Given the description of an element on the screen output the (x, y) to click on. 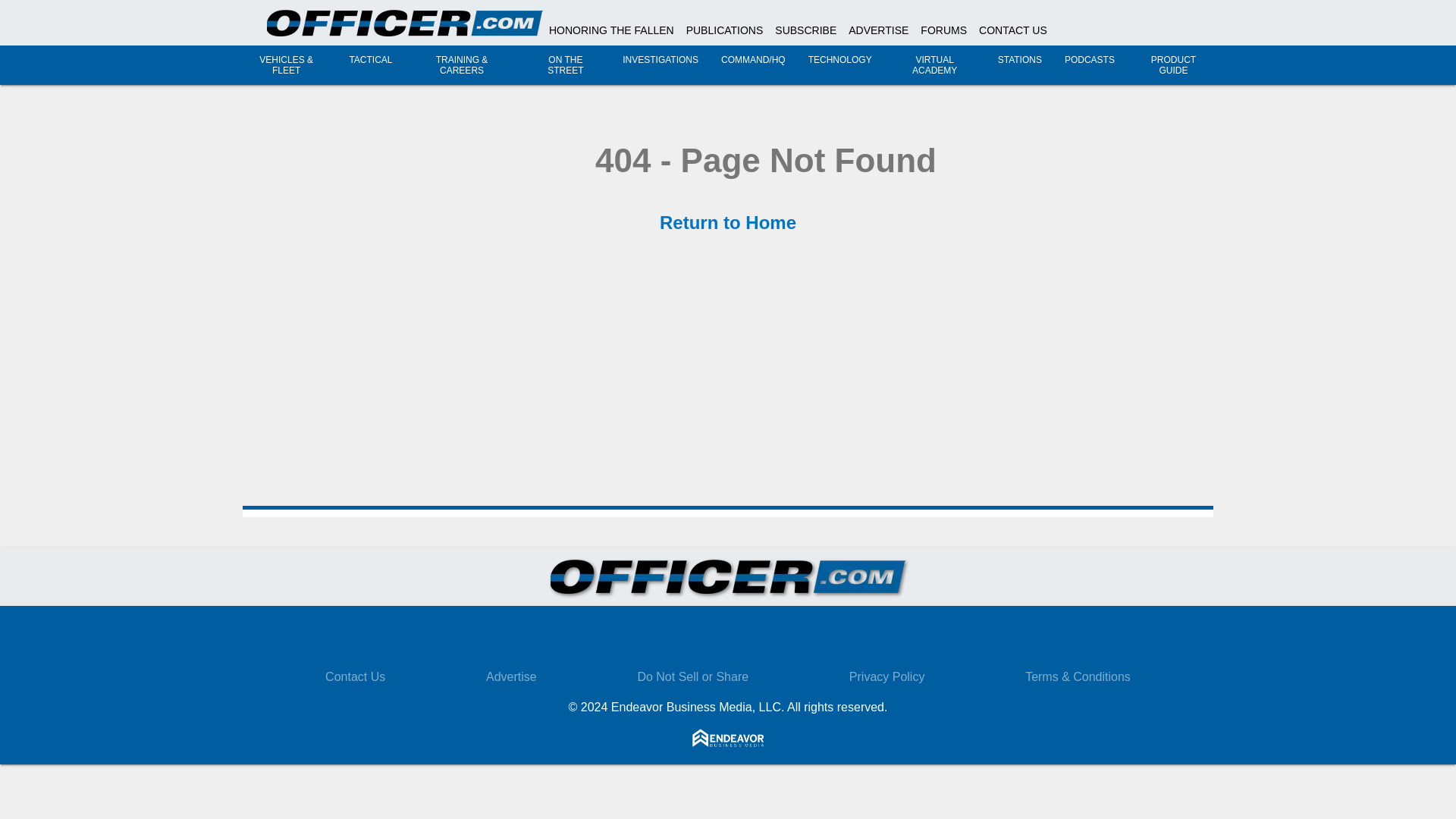
CONTACT US (1012, 30)
Advertise (511, 676)
PRODUCT GUIDE (1173, 65)
Do Not Sell or Share (692, 676)
VIRTUAL ACADEMY (934, 65)
Privacy Policy (886, 676)
PODCASTS (1089, 59)
Return to Home (727, 222)
Contact Us (354, 676)
ADVERTISE (878, 30)
FORUMS (943, 30)
STATIONS (1019, 59)
TACTICAL (370, 59)
SUBSCRIBE (804, 30)
INVESTIGATIONS (660, 59)
